Given the description of an element on the screen output the (x, y) to click on. 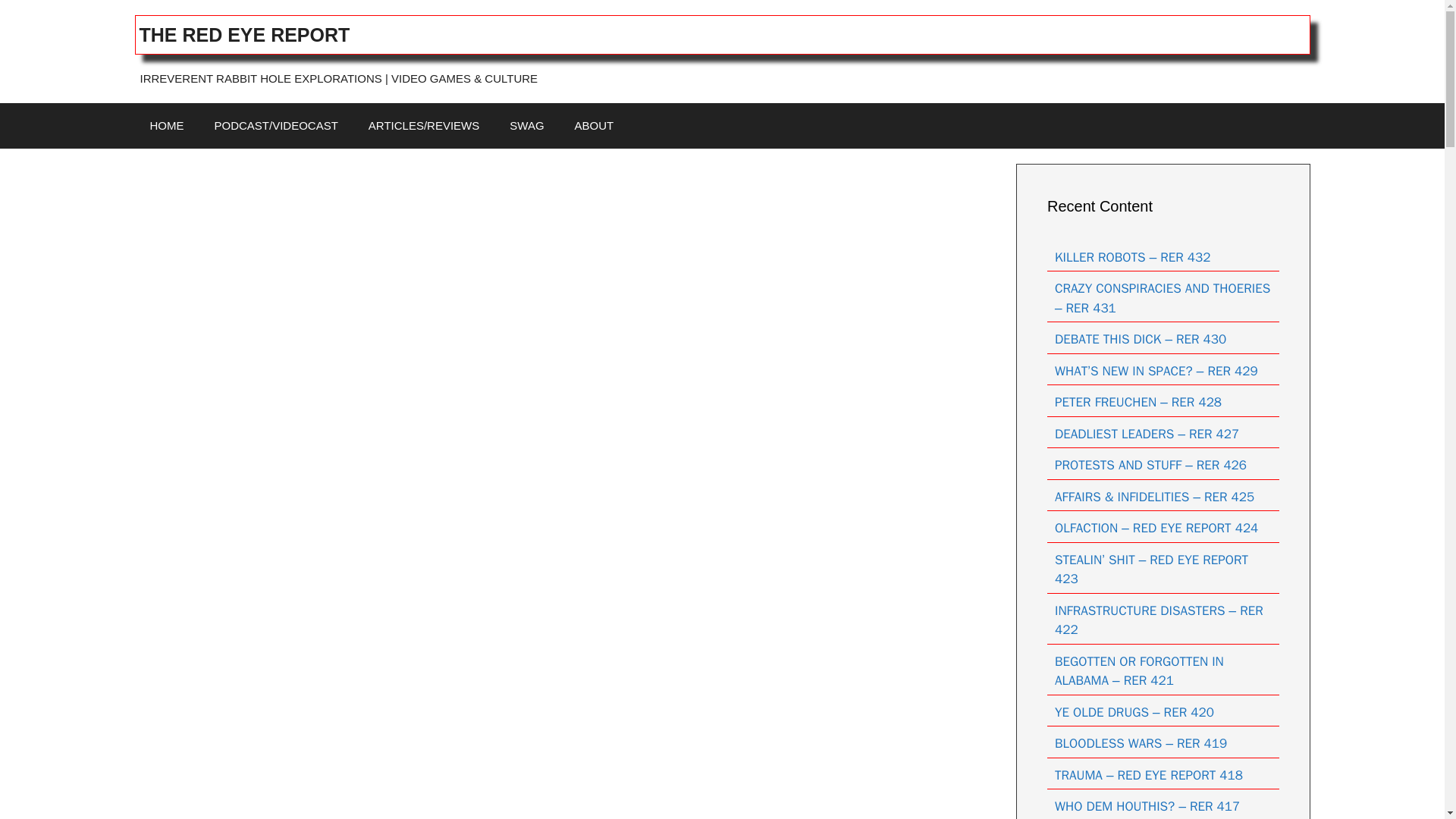
HOME (167, 125)
THE RED EYE REPORT (244, 34)
SWAG (527, 125)
ABOUT (593, 125)
